Given the description of an element on the screen output the (x, y) to click on. 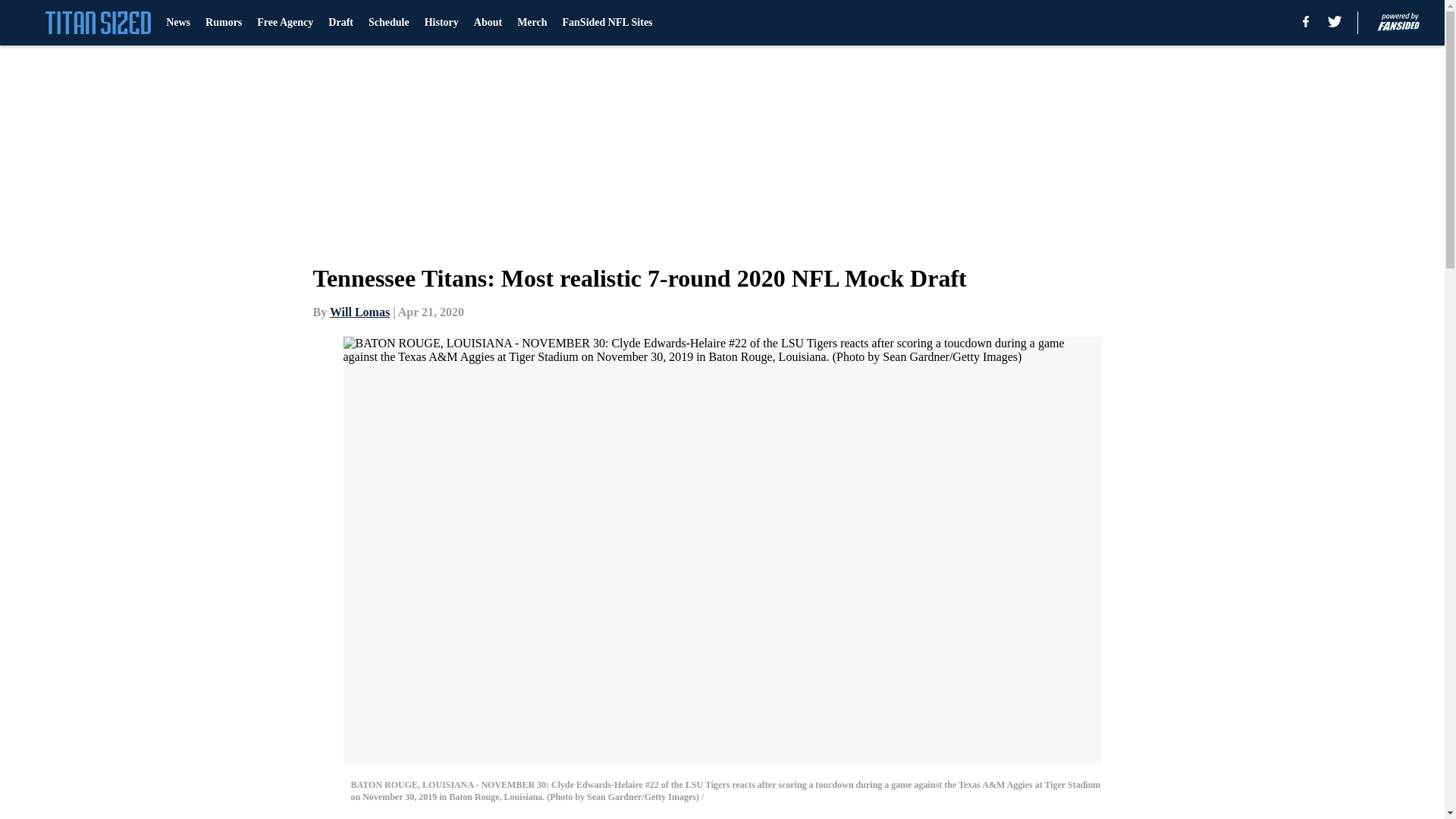
Free Agency (285, 22)
Draft (341, 22)
Schedule (388, 22)
Will Lomas (360, 311)
Rumors (223, 22)
News (177, 22)
Merch (531, 22)
FanSided NFL Sites (607, 22)
About (488, 22)
History (441, 22)
